Given the description of an element on the screen output the (x, y) to click on. 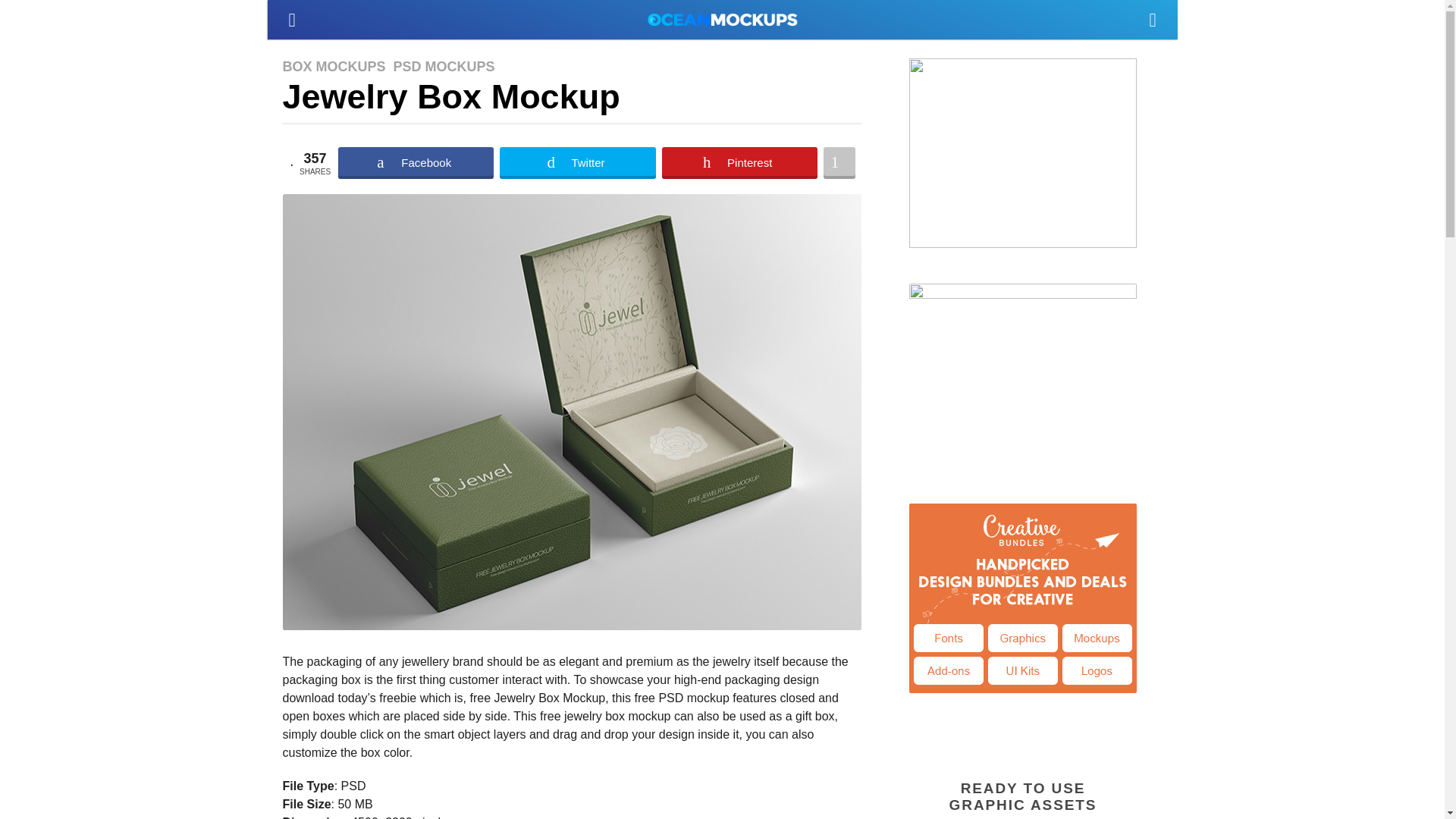
Share on Pinterest (739, 163)
Share on Twitter (577, 163)
Share on Facebook (415, 163)
Share on More Button (840, 163)
